Given the description of an element on the screen output the (x, y) to click on. 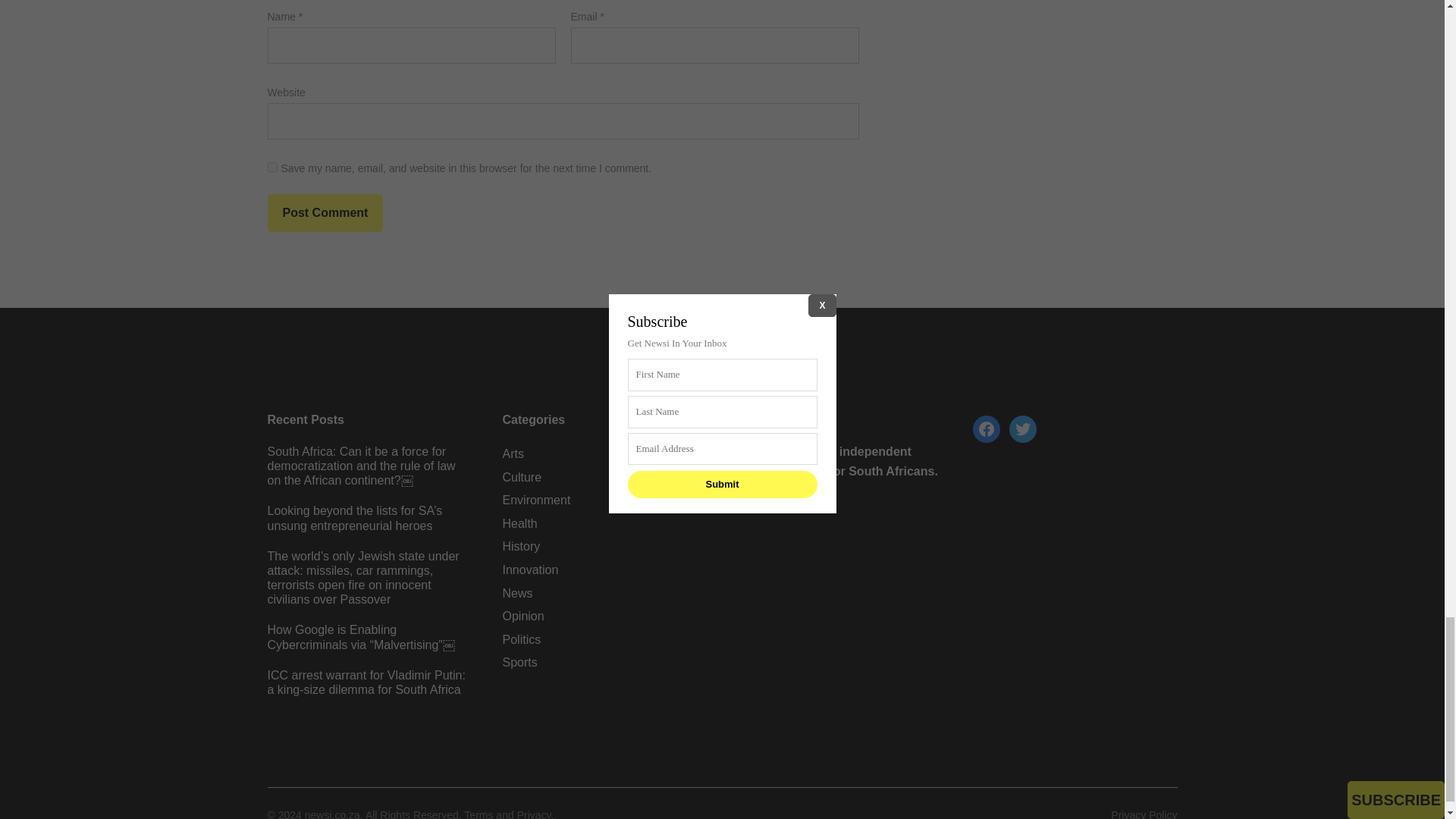
Post Comment (324, 212)
yes (271, 166)
Post Comment (324, 212)
